Given the description of an element on the screen output the (x, y) to click on. 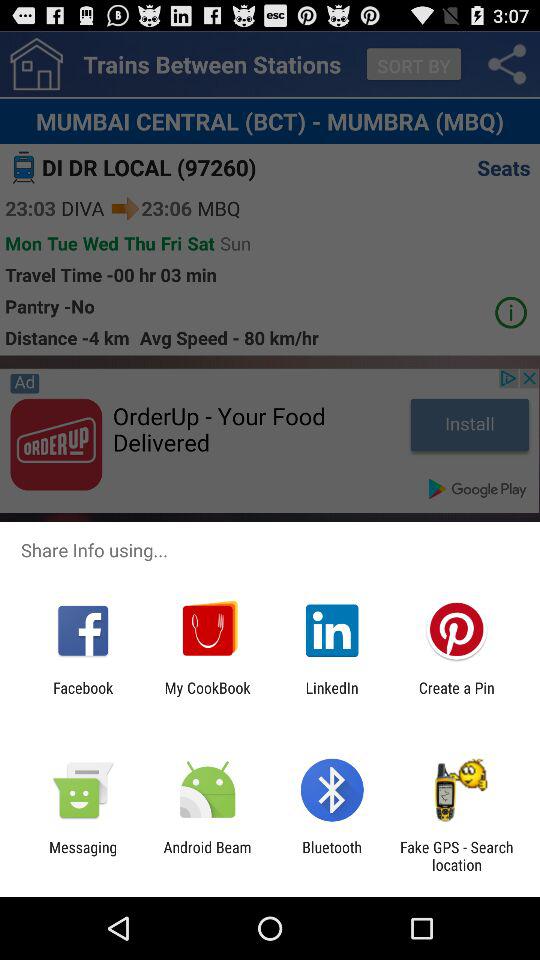
tap the app next to the facebook (207, 696)
